Given the description of an element on the screen output the (x, y) to click on. 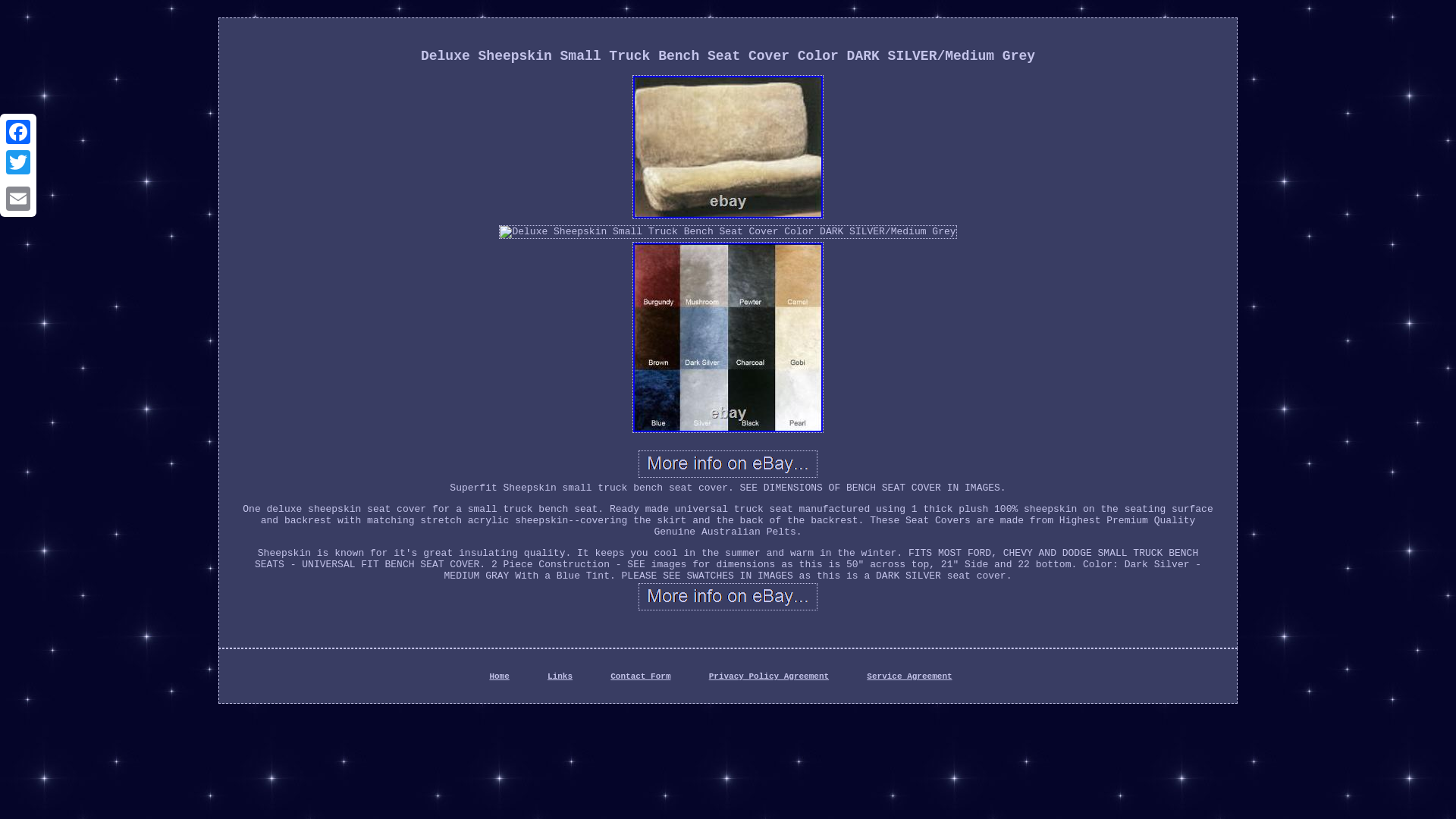
Service Agreement (909, 675)
Twitter (17, 162)
Privacy Policy Agreement (768, 675)
Email (17, 198)
Facebook (17, 132)
Home (498, 675)
Links (559, 675)
Contact Form (639, 675)
